Given the description of an element on the screen output the (x, y) to click on. 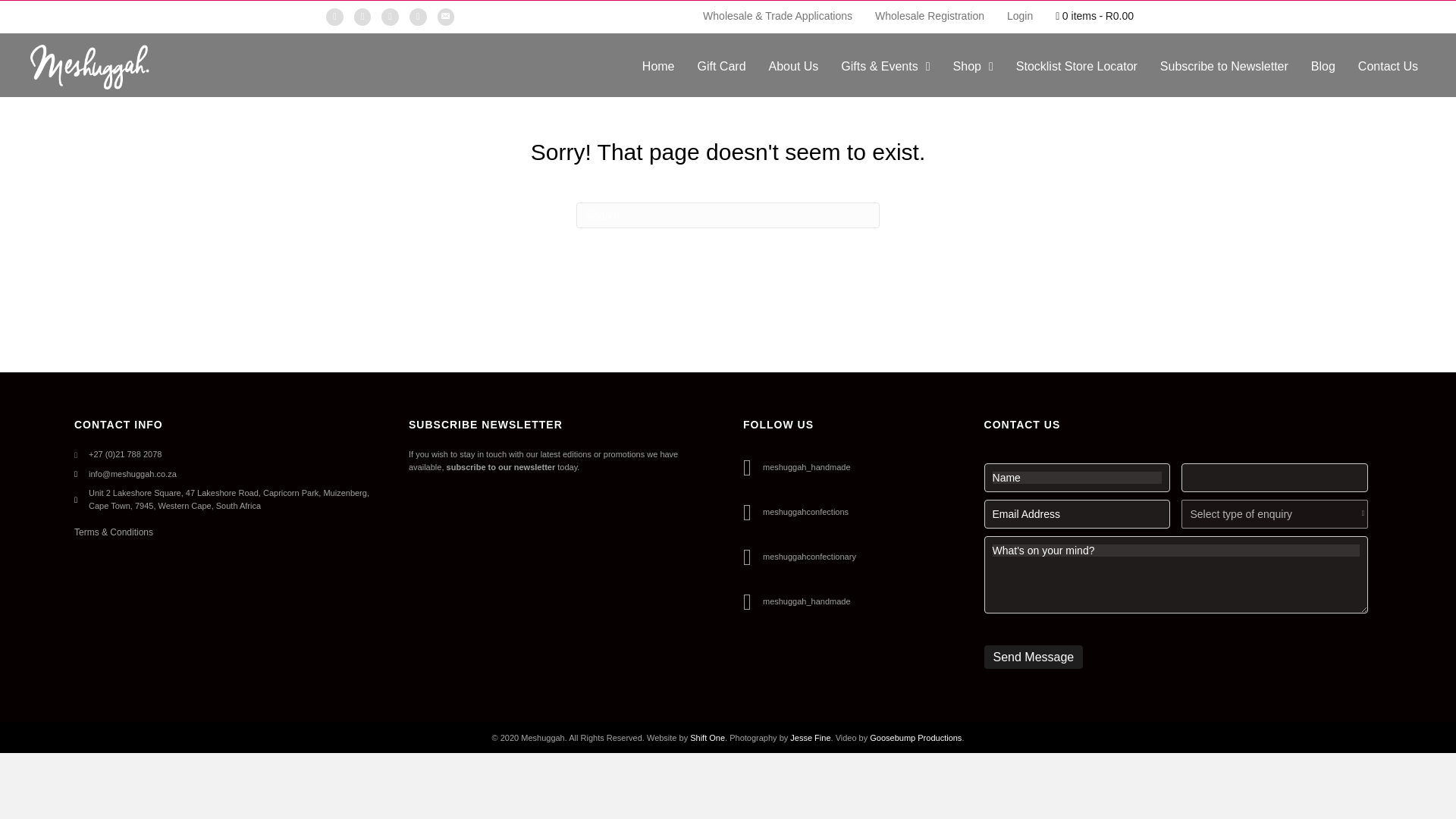
Send Message (1033, 657)
Shop (972, 66)
About Us (794, 66)
Start shopping (1094, 16)
Gift Card (722, 66)
Stocklist Store Locator (1076, 66)
Type and press Enter to search. (727, 215)
meshuggah-logo-white-250 (89, 67)
Wholesale Registration (929, 15)
Login (1019, 15)
0 itemsR0.00 (1094, 16)
Home (658, 66)
